Given the description of an element on the screen output the (x, y) to click on. 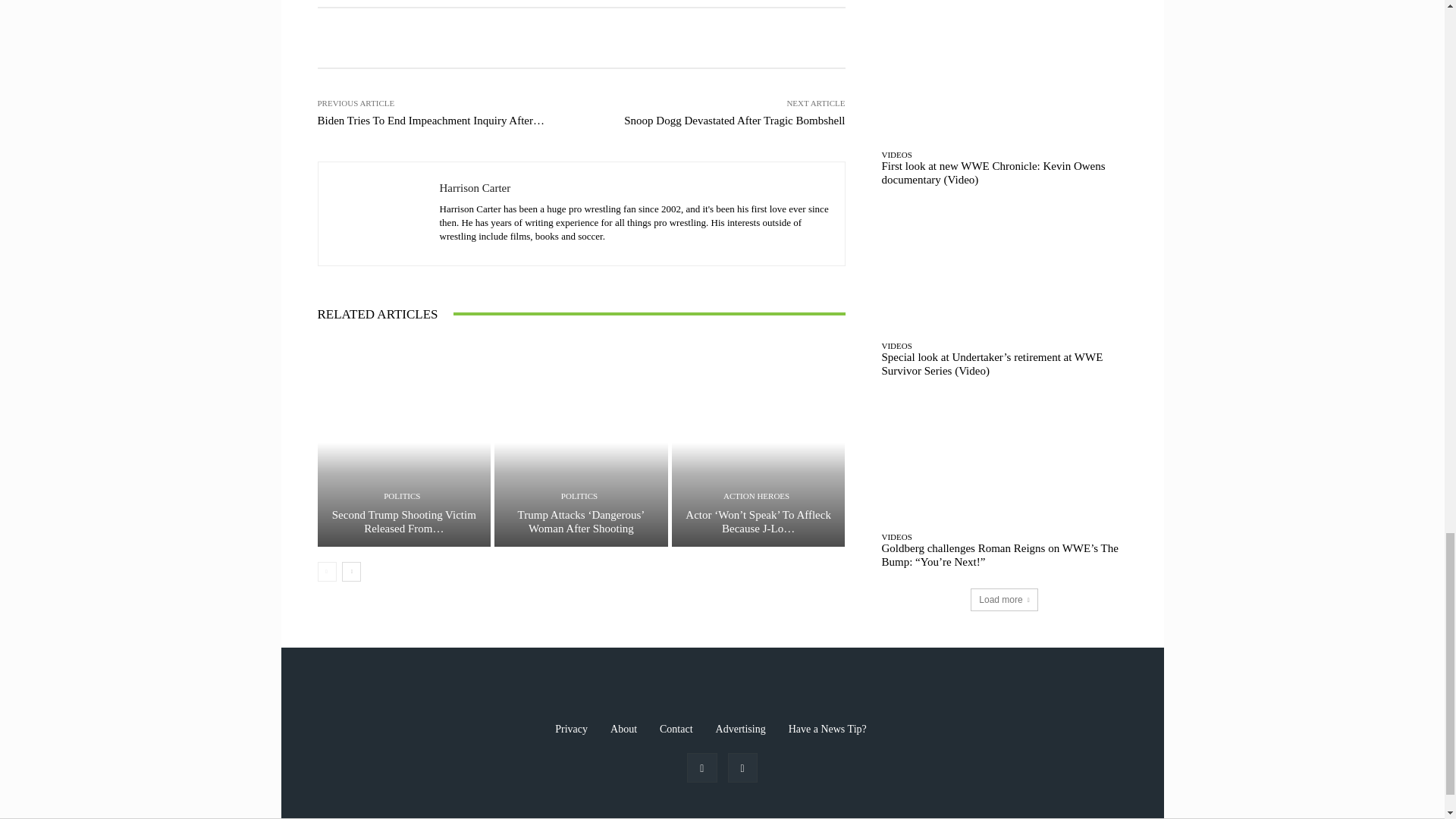
Harrison Carter (379, 213)
